Given the description of an element on the screen output the (x, y) to click on. 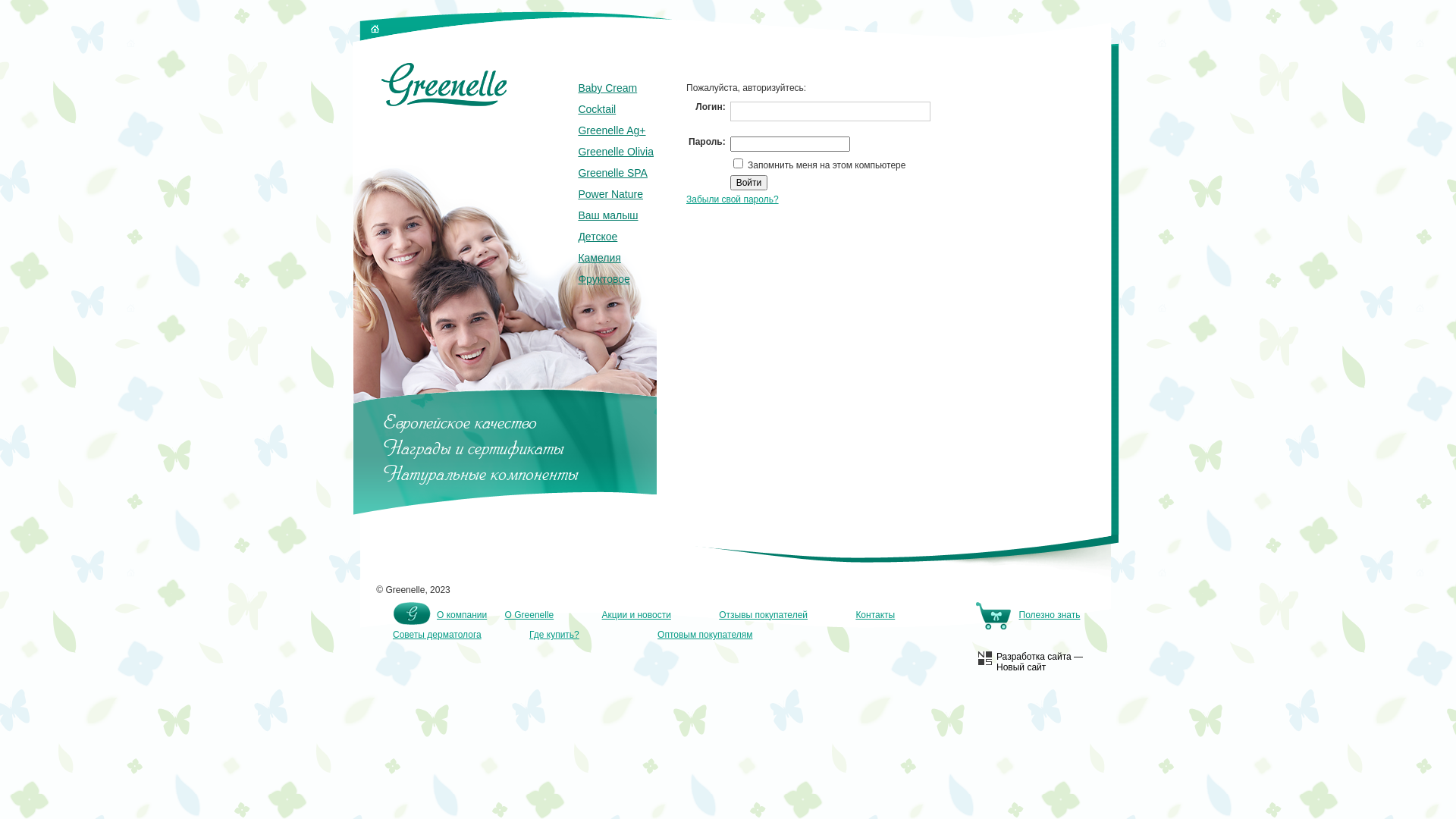
Power Nature Element type: text (615, 193)
Greenelle Ag+ Element type: text (615, 130)
Cocktail Element type: text (615, 109)
Baby Cream Element type: text (615, 87)
Greenelle Olivia Element type: text (615, 151)
Greenelle SPA Element type: text (615, 172)
